Given the description of an element on the screen output the (x, y) to click on. 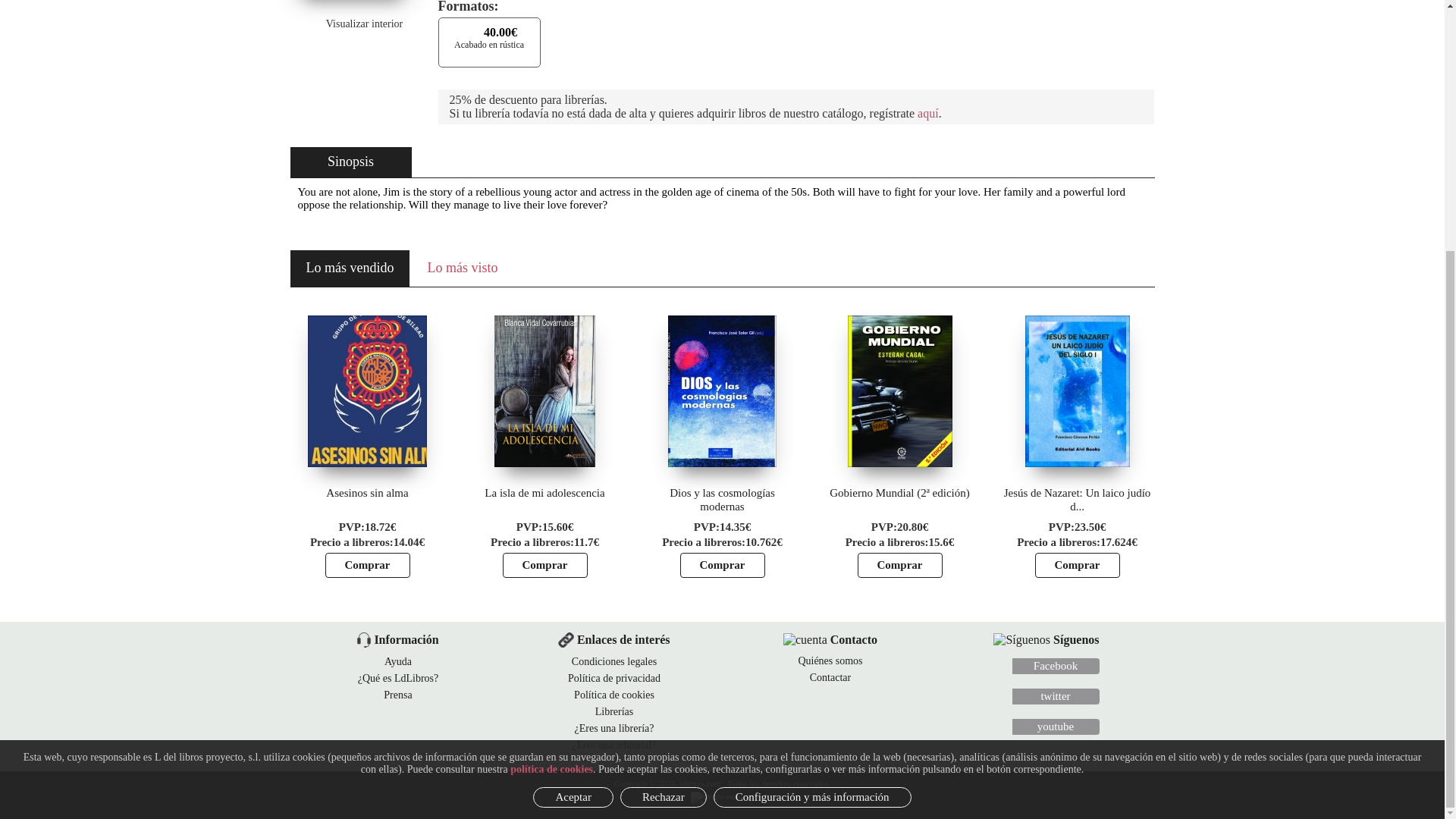
Rechazar (663, 444)
Comprar (721, 565)
Comprar (366, 565)
Aceptar (572, 444)
Visualizar interior (352, 23)
Comprar (899, 565)
Visualizar interior (352, 23)
Comprar (544, 565)
